Given the description of an element on the screen output the (x, y) to click on. 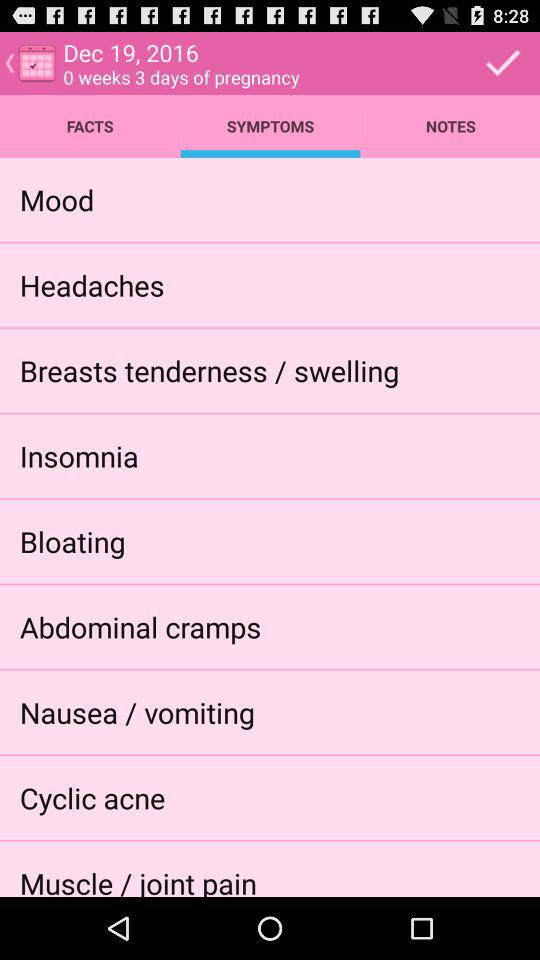
click to save (503, 62)
